Given the description of an element on the screen output the (x, y) to click on. 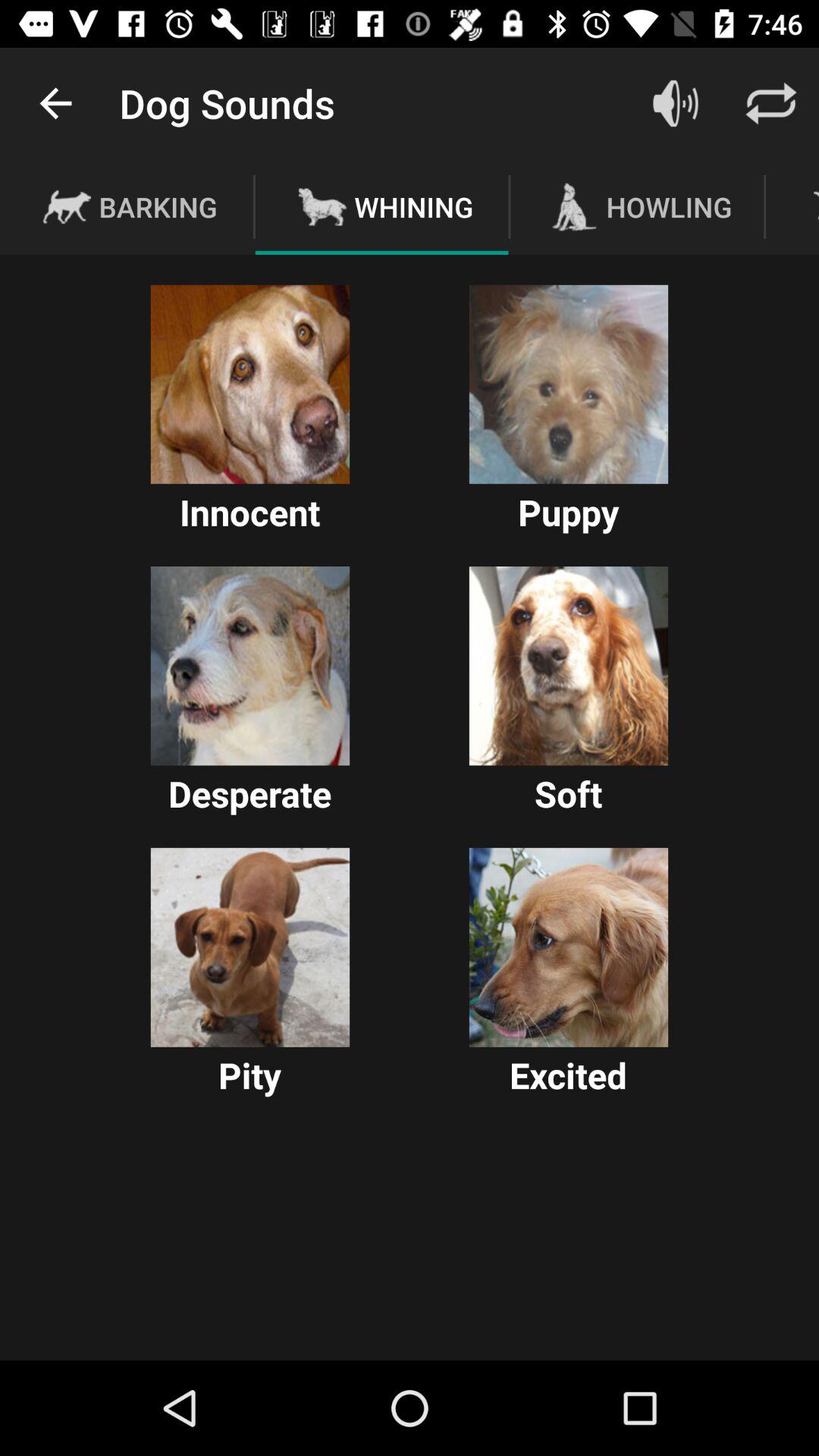
select puppy sound (568, 384)
